Given the description of an element on the screen output the (x, y) to click on. 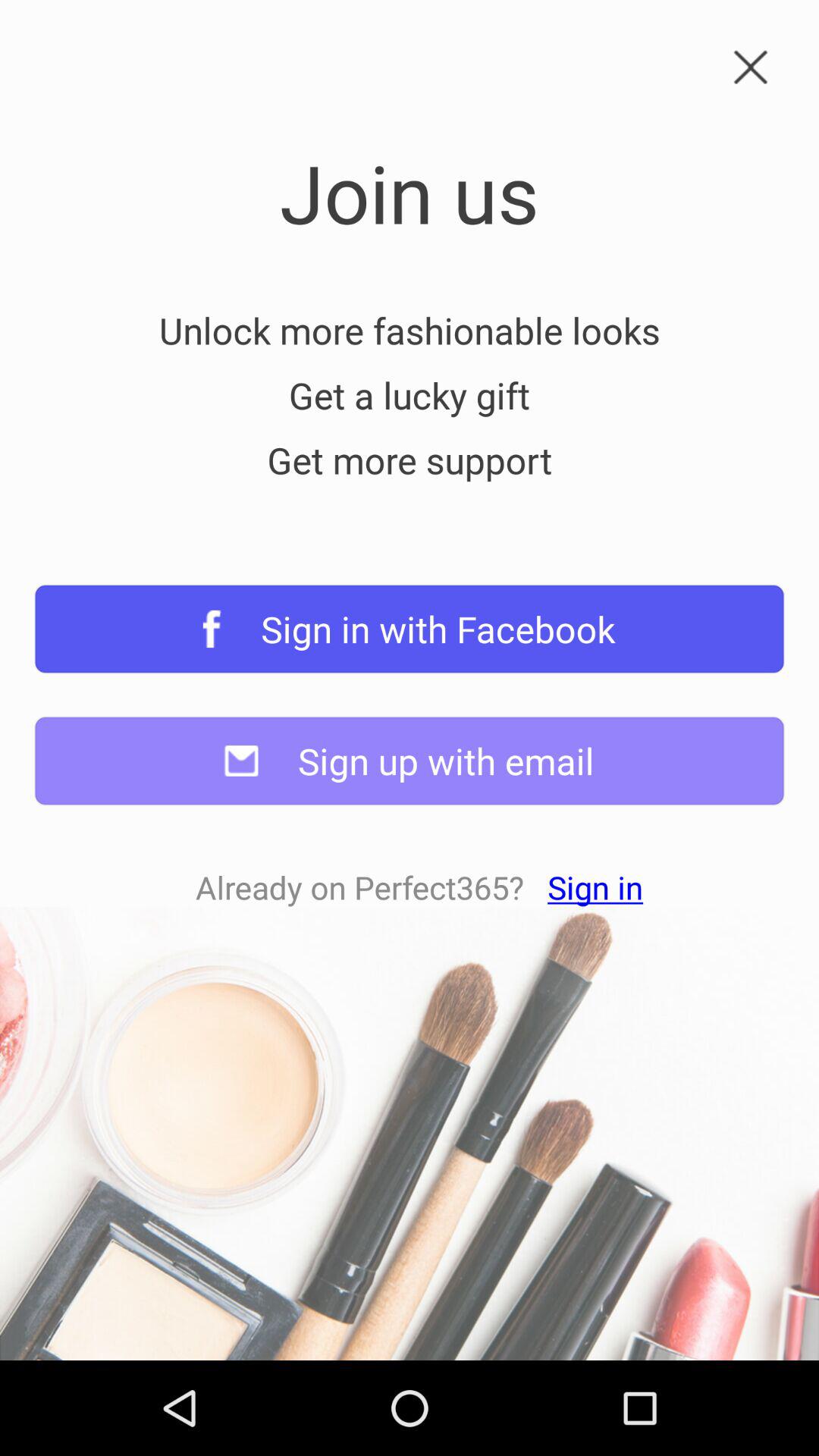
tap the already on perfect365 (419, 886)
